Given the description of an element on the screen output the (x, y) to click on. 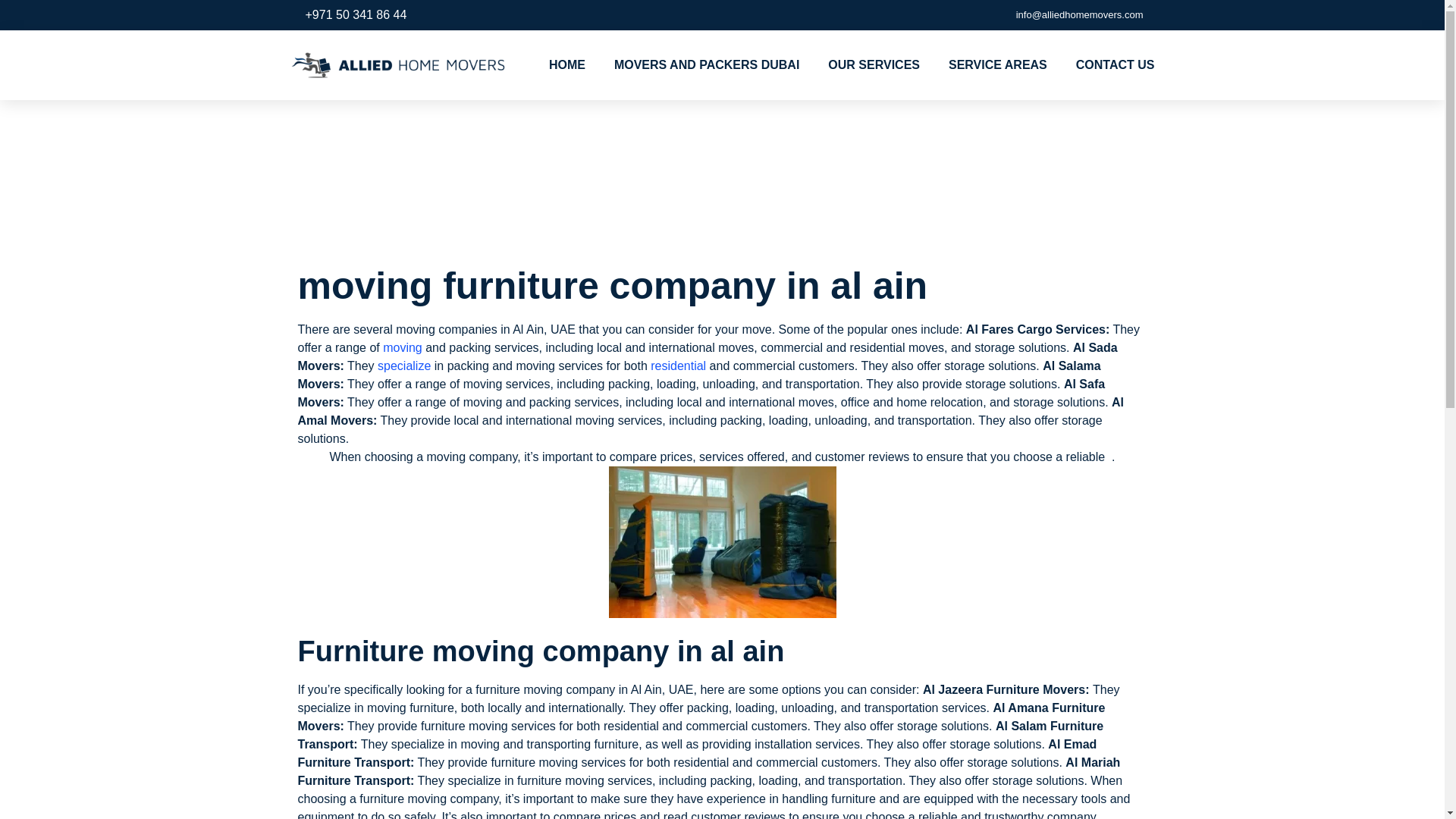
specialize (402, 365)
MOVERS AND PACKERS DUBAI (706, 65)
SERVICE AREAS (997, 65)
residential (676, 365)
HOME (566, 65)
OUR SERVICES (874, 65)
CONTACT US (1114, 65)
moving (402, 347)
